Given the description of an element on the screen output the (x, y) to click on. 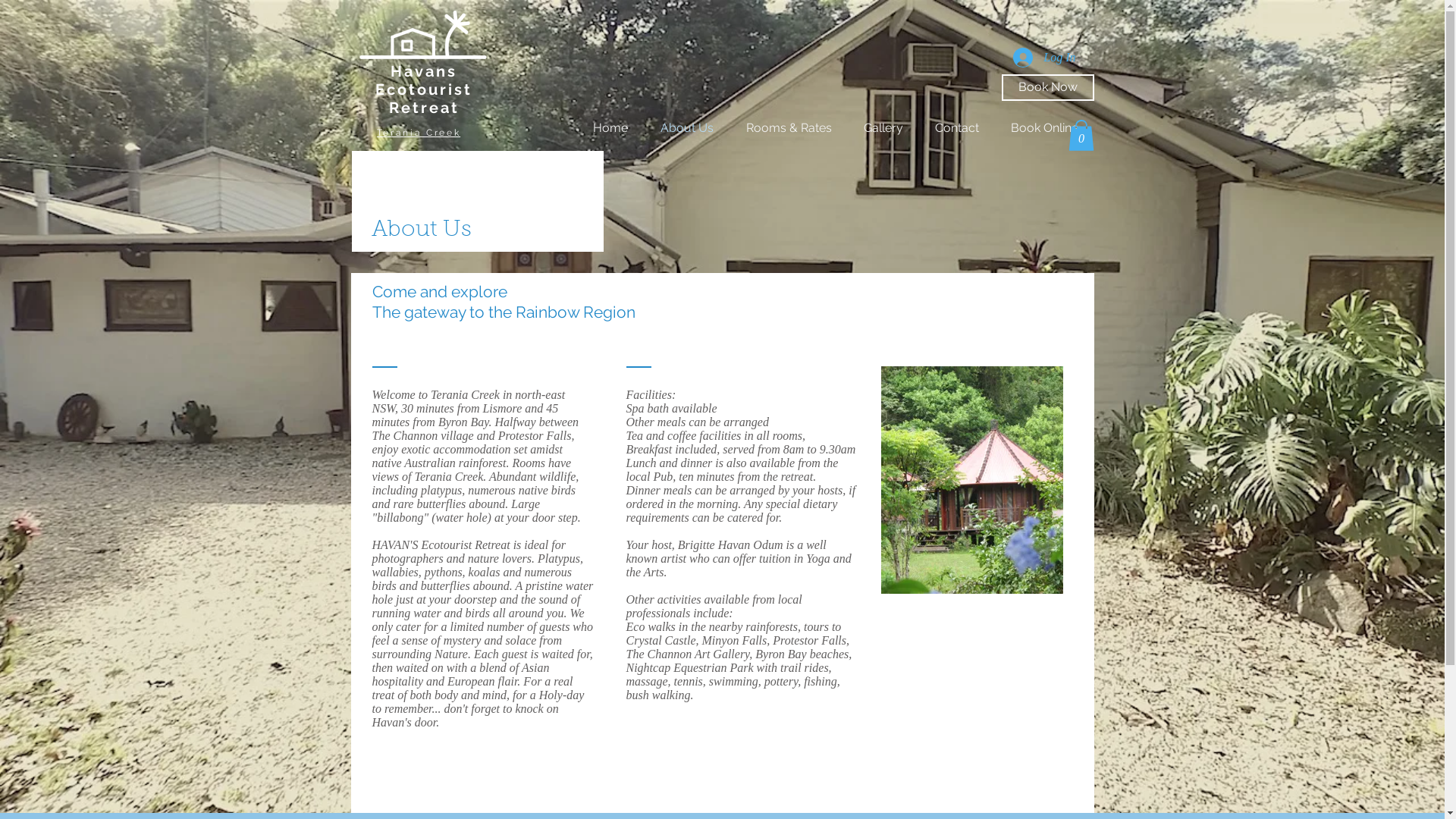
About Us Element type: text (687, 127)
Log In Element type: text (1043, 57)
15.jpg Element type: hover (972, 479)
Havans Ecotourist Retreat Element type: text (423, 89)
0 Element type: text (1080, 134)
Rooms & Rates Element type: text (788, 127)
Terania Creek Element type: text (418, 132)
Book Now Element type: text (1047, 87)
Home Element type: text (609, 127)
Gallery Element type: text (883, 127)
Contact Element type: text (956, 127)
Book Online Element type: text (1044, 127)
